Given the description of an element on the screen output the (x, y) to click on. 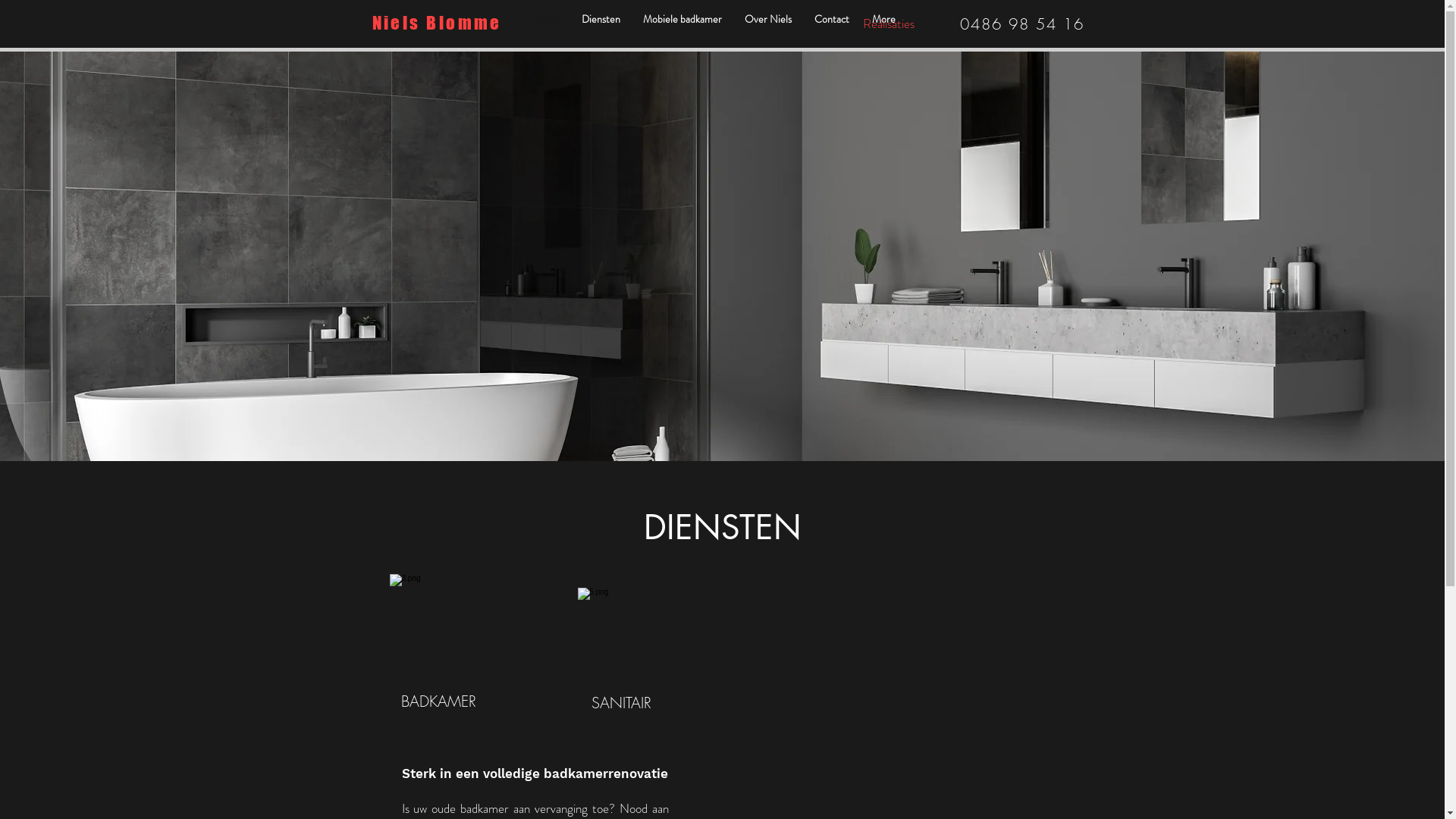
Realisaties Element type: text (888, 23)
Niels Blomme Element type: text (436, 23)
Diensten Element type: text (600, 23)
Contact Element type: text (830, 23)
Home Element type: text (545, 23)
Mobiele badkamer Element type: text (681, 23)
Over Niels Element type: text (767, 23)
